Given the description of an element on the screen output the (x, y) to click on. 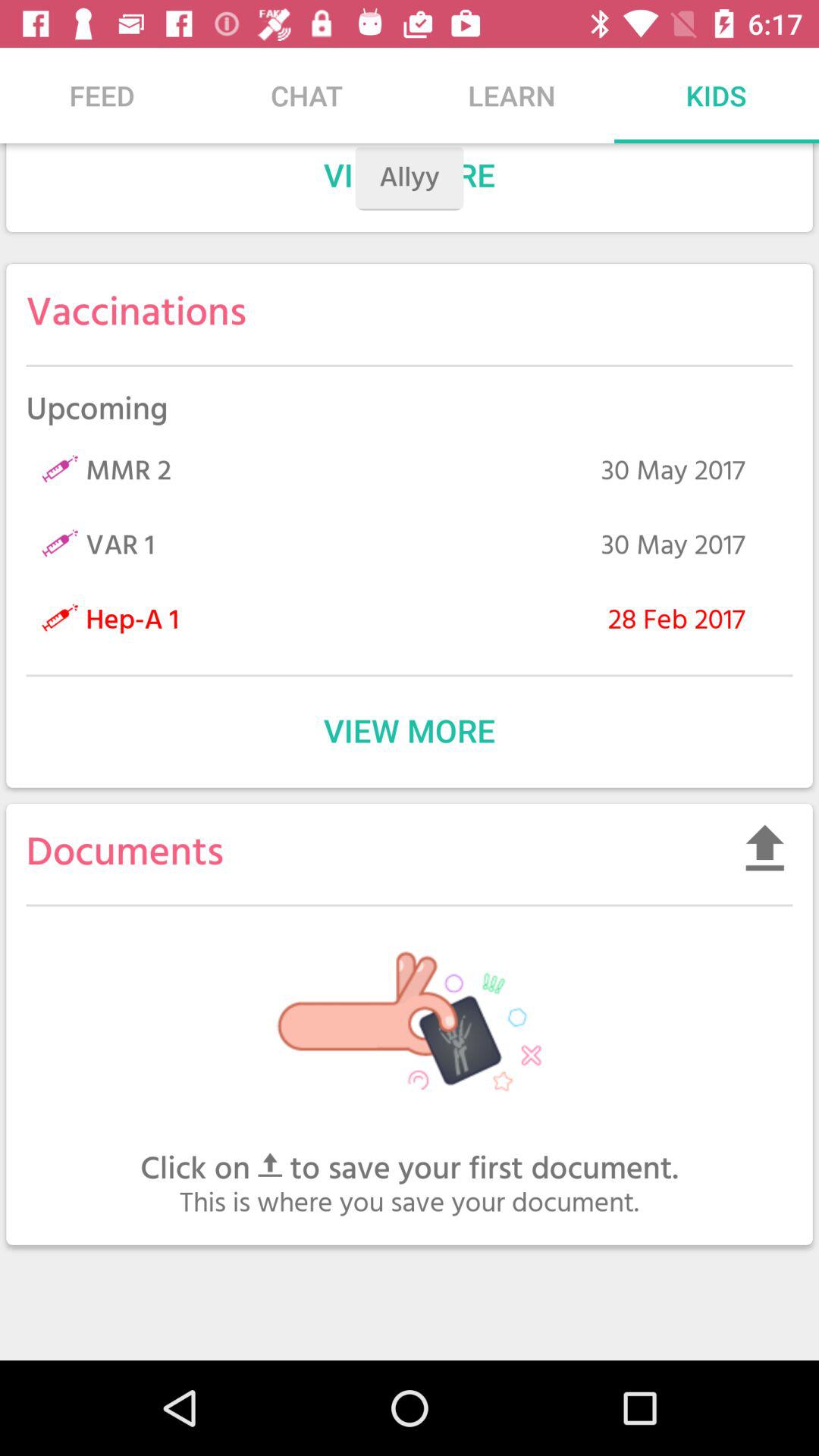
upload document (764, 847)
